Given the description of an element on the screen output the (x, y) to click on. 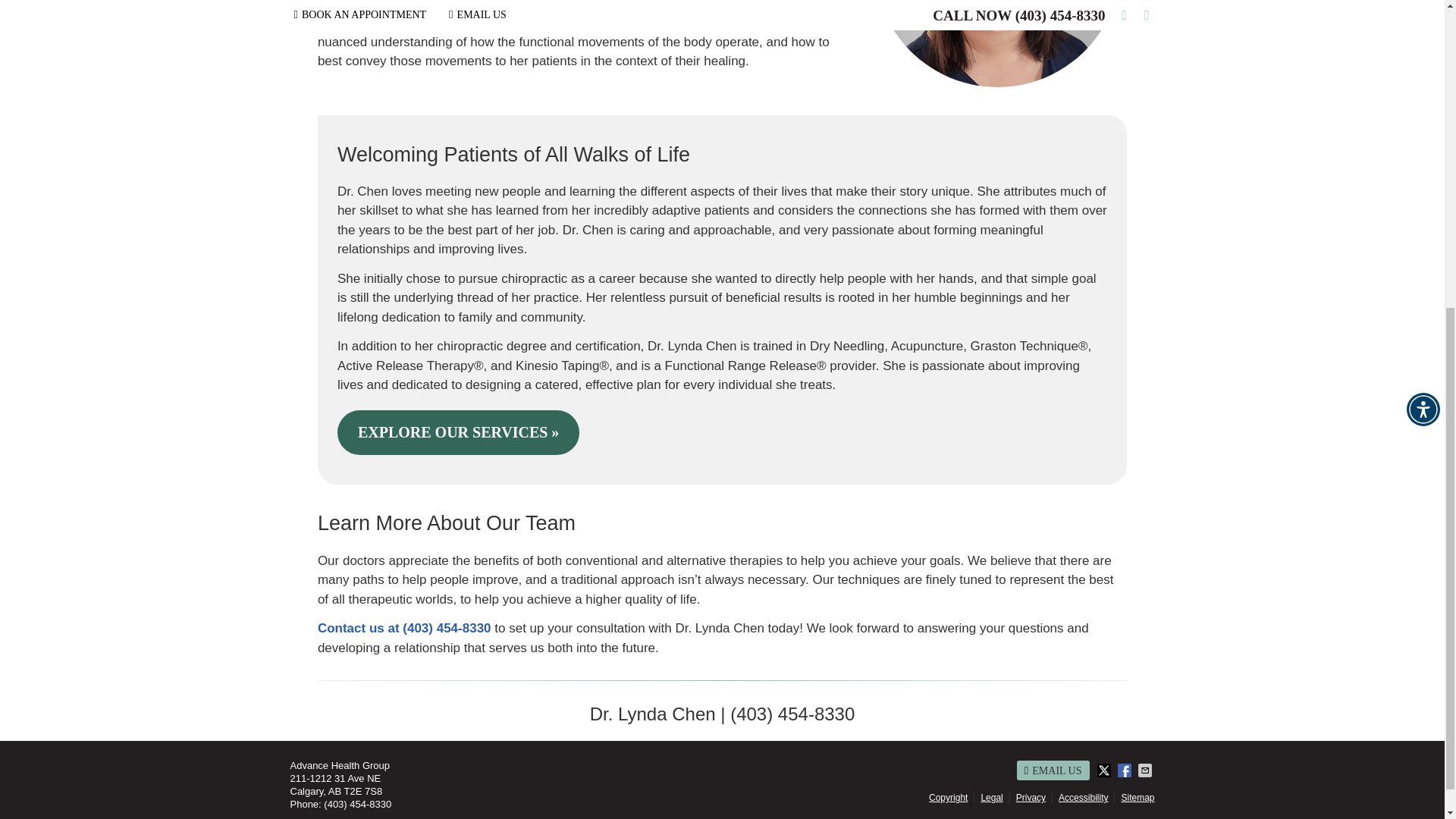
Contact (1052, 770)
Footer Links (1038, 797)
